Given the description of an element on the screen output the (x, y) to click on. 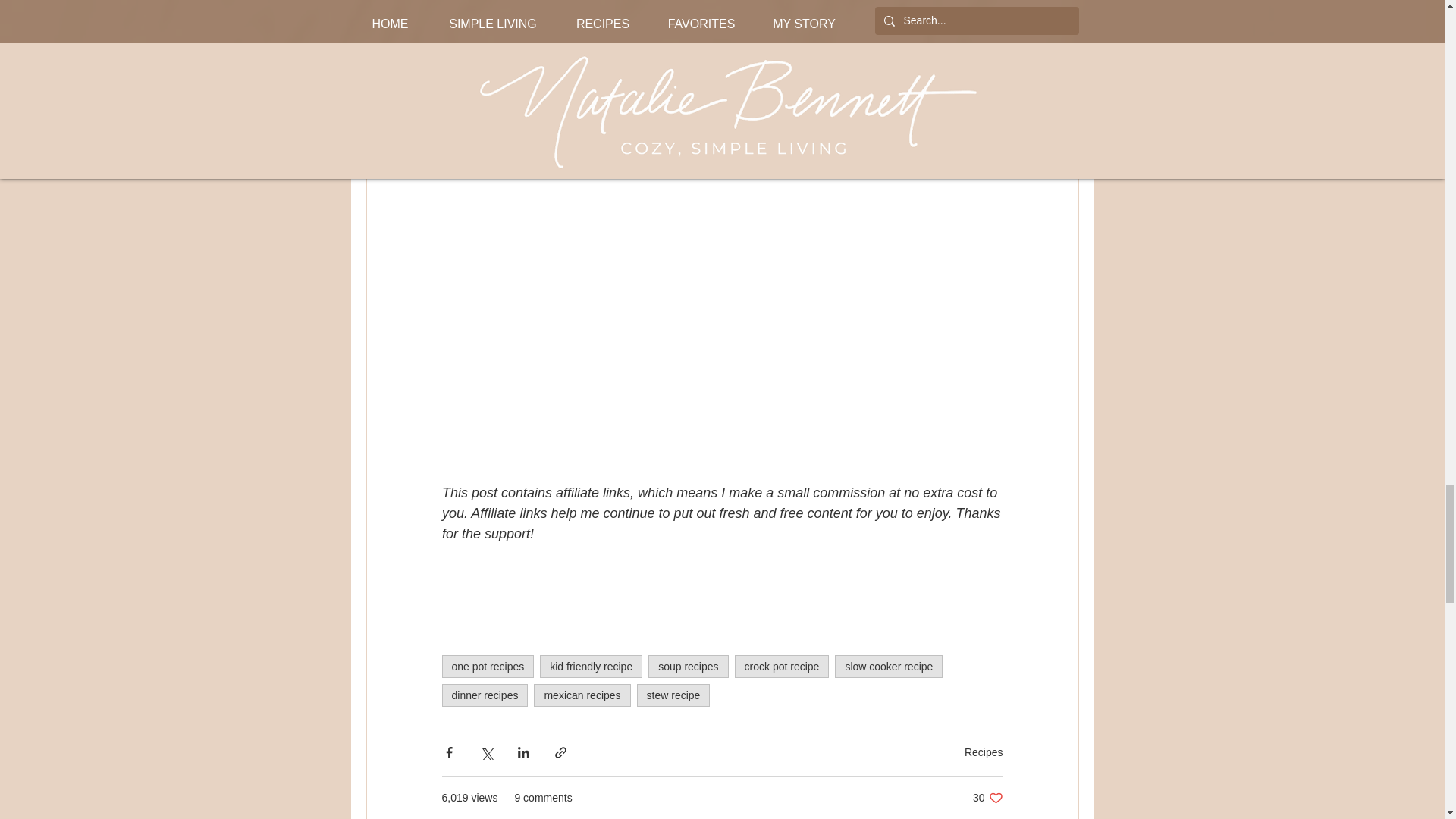
mexican recipes (582, 694)
soup recipes (687, 666)
one pot recipes (987, 798)
dinner recipes (487, 666)
slow cooker recipe (484, 694)
crock pot recipe (888, 666)
stew recipe (782, 666)
kid friendly recipe (673, 694)
Recipes (591, 666)
